Given the description of an element on the screen output the (x, y) to click on. 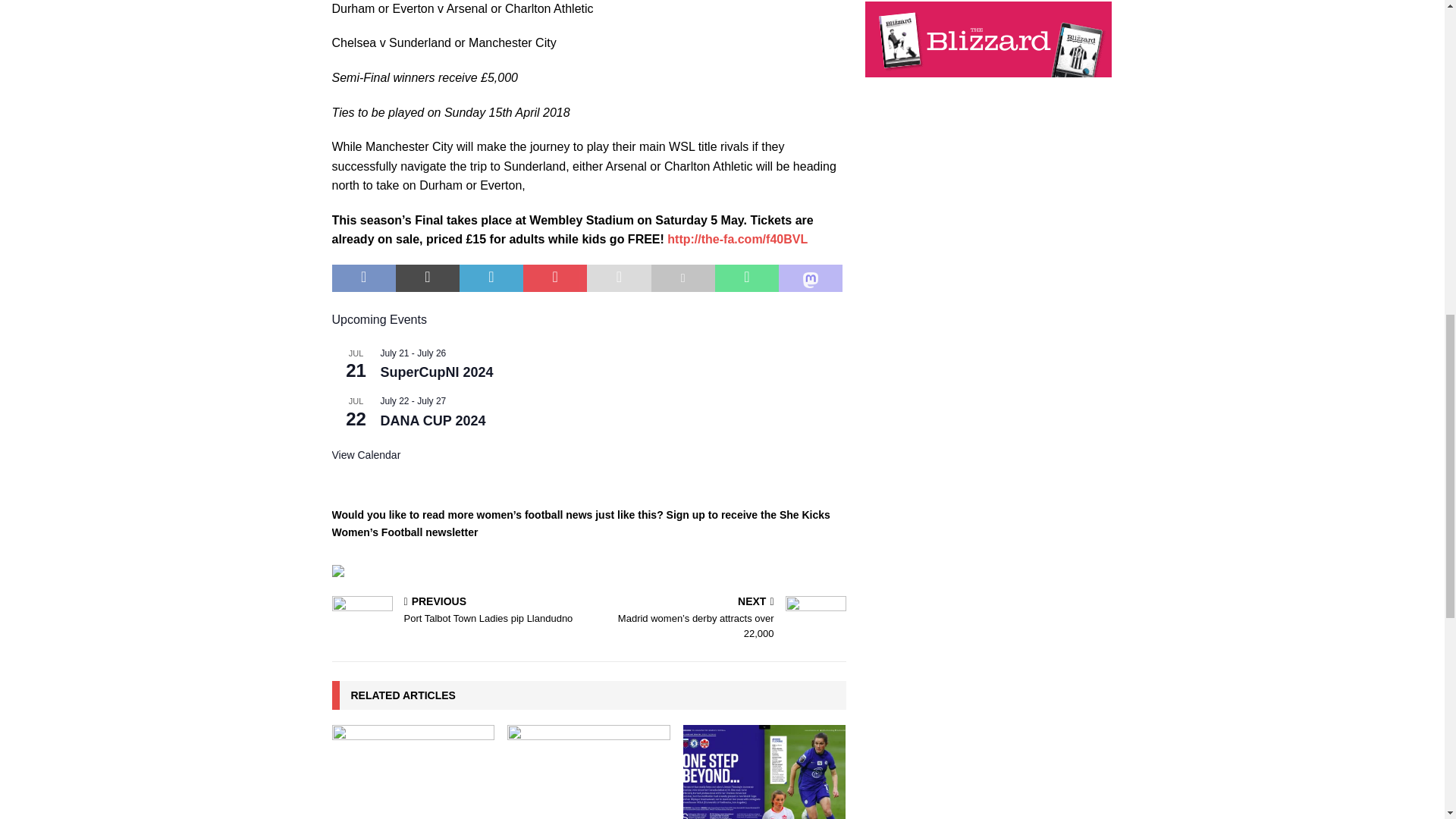
Pin This Post (554, 277)
Share on Facebook (363, 277)
Send this article to a friend (618, 277)
Tweet This Post (428, 277)
Share on LinkedIn (491, 277)
